Given the description of an element on the screen output the (x, y) to click on. 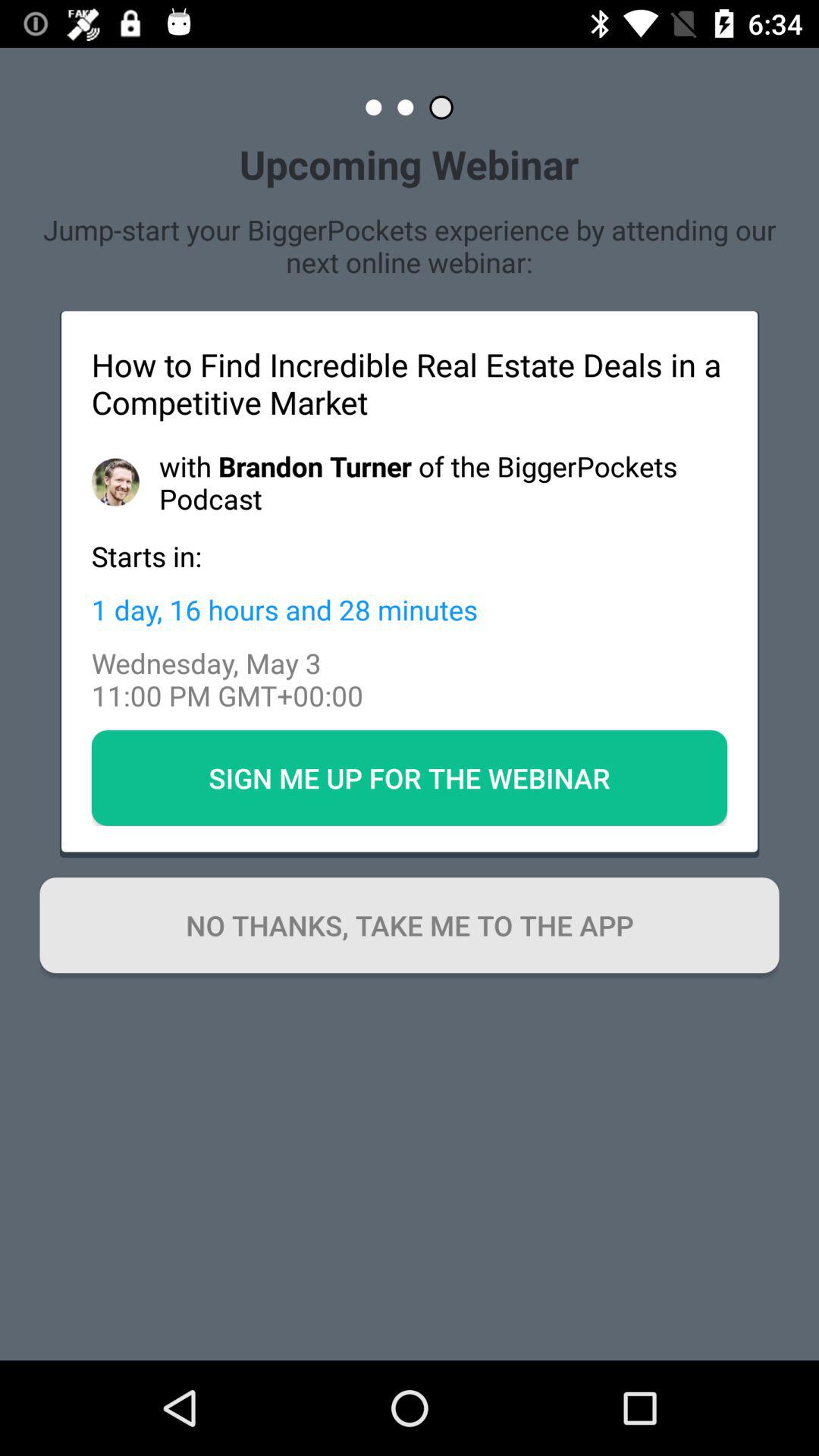
turn off the app below the wednesday may 3 (409, 777)
